Given the description of an element on the screen output the (x, y) to click on. 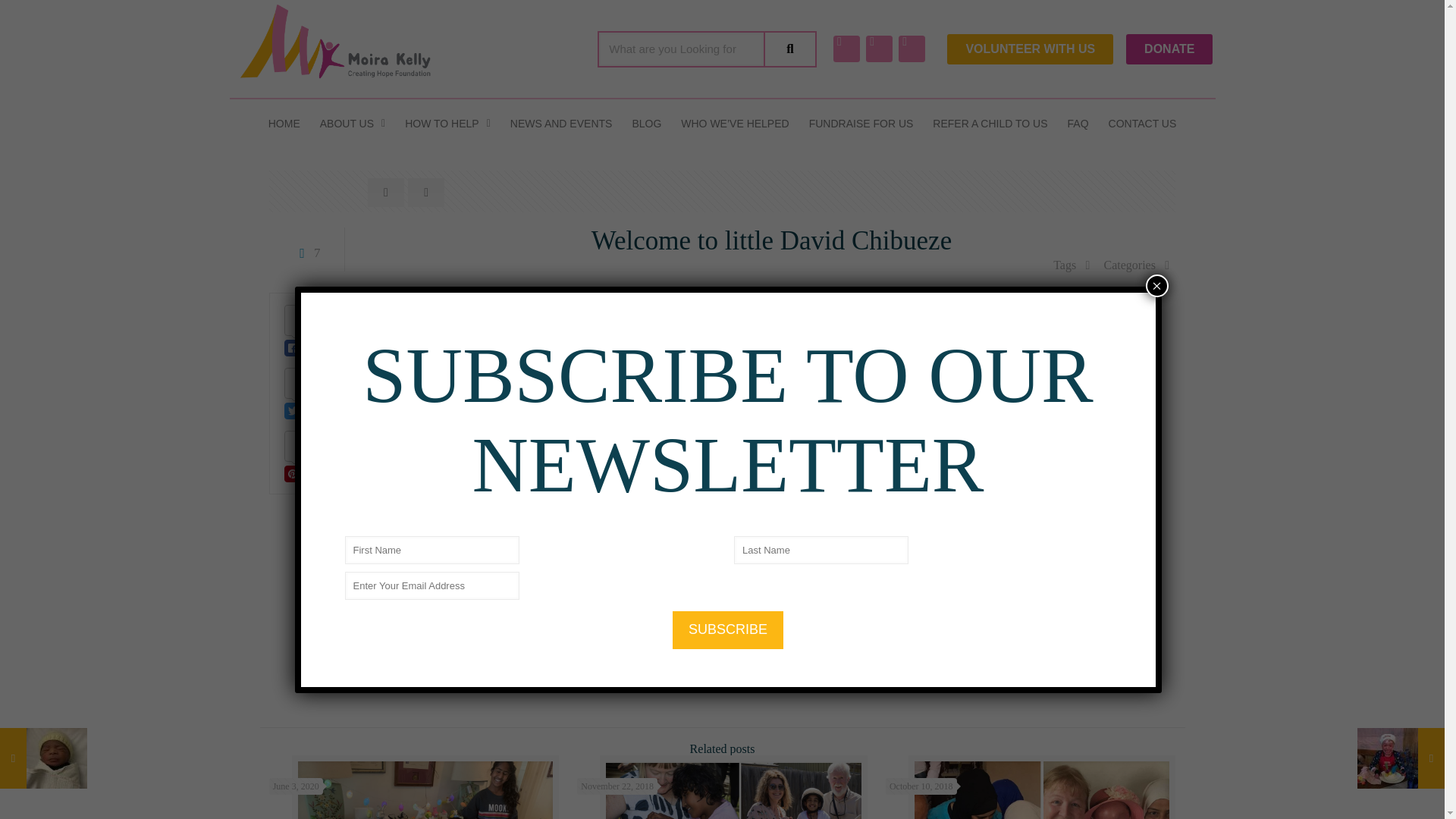
CONTACT US (1142, 123)
BLOG (646, 123)
SUBSCRIBE (727, 629)
FAQ (1078, 123)
Search (680, 49)
VOLUNTEER WITH US (1030, 49)
FUNDRAISE FOR US (861, 123)
NEWS AND EVENTS (561, 123)
HOME (284, 123)
DONATE (1168, 49)
